Given the description of an element on the screen output the (x, y) to click on. 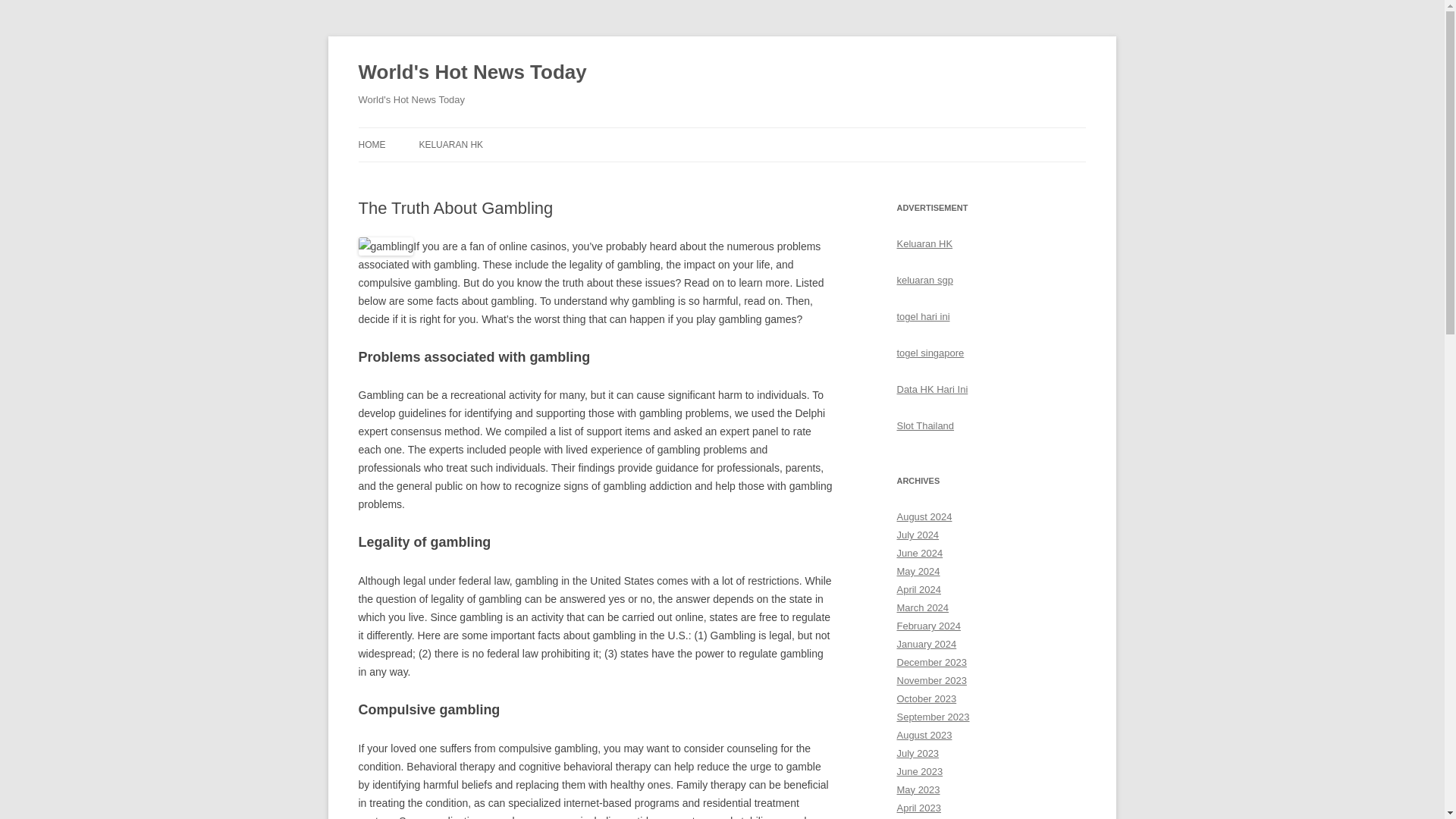
March 2024 (922, 607)
September 2023 (932, 716)
January 2024 (926, 644)
August 2024 (924, 516)
togel singapore (929, 352)
togel hari ini (922, 316)
August 2023 (924, 735)
July 2024 (917, 534)
April 2024 (918, 589)
